Given the description of an element on the screen output the (x, y) to click on. 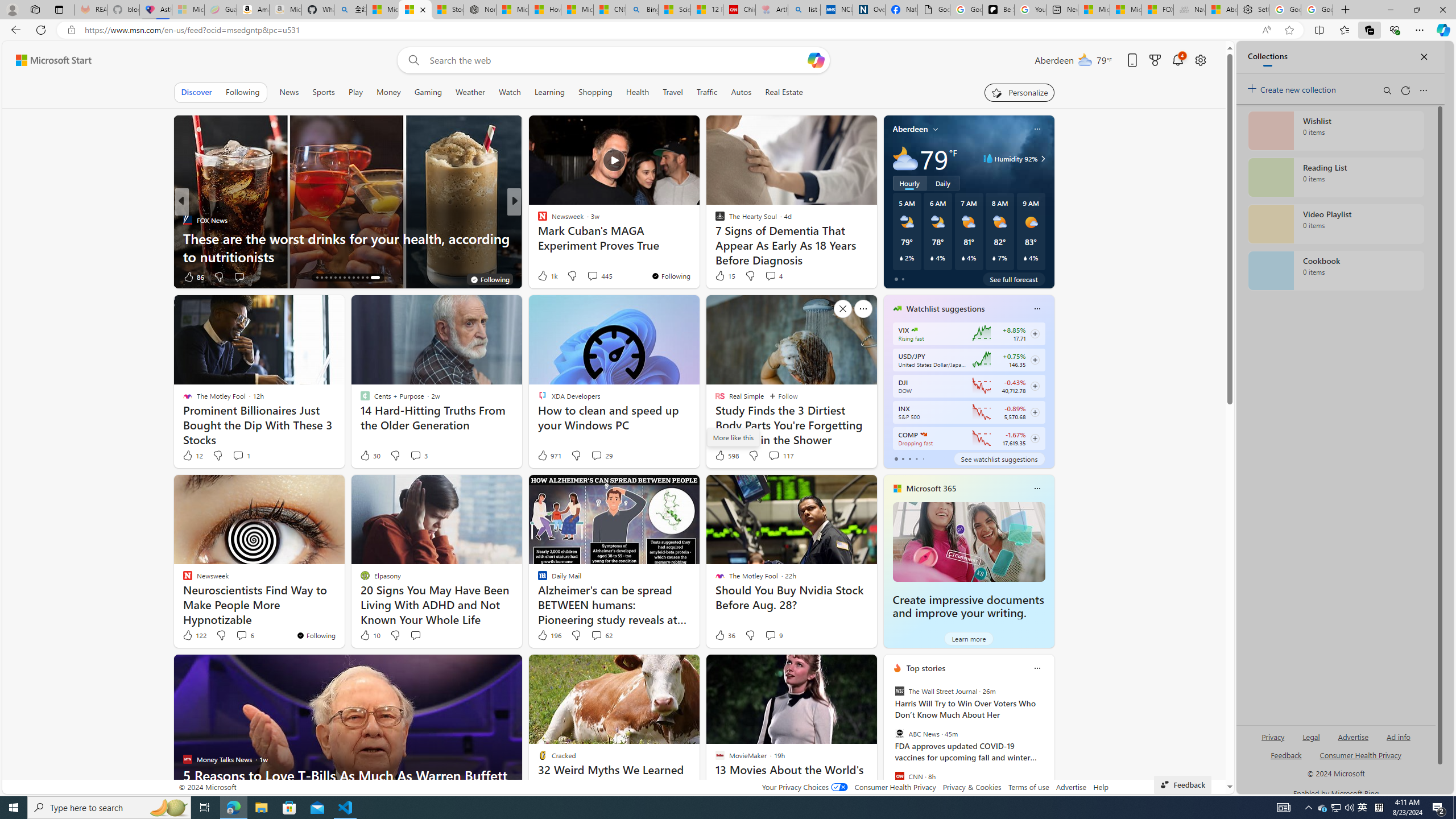
NASDAQ (923, 434)
View comments 3 Comment (414, 455)
Autos (740, 92)
FOX News (187, 219)
Personalize your feed" (1019, 92)
previous (888, 741)
Shopping (595, 92)
